Given the description of an element on the screen output the (x, y) to click on. 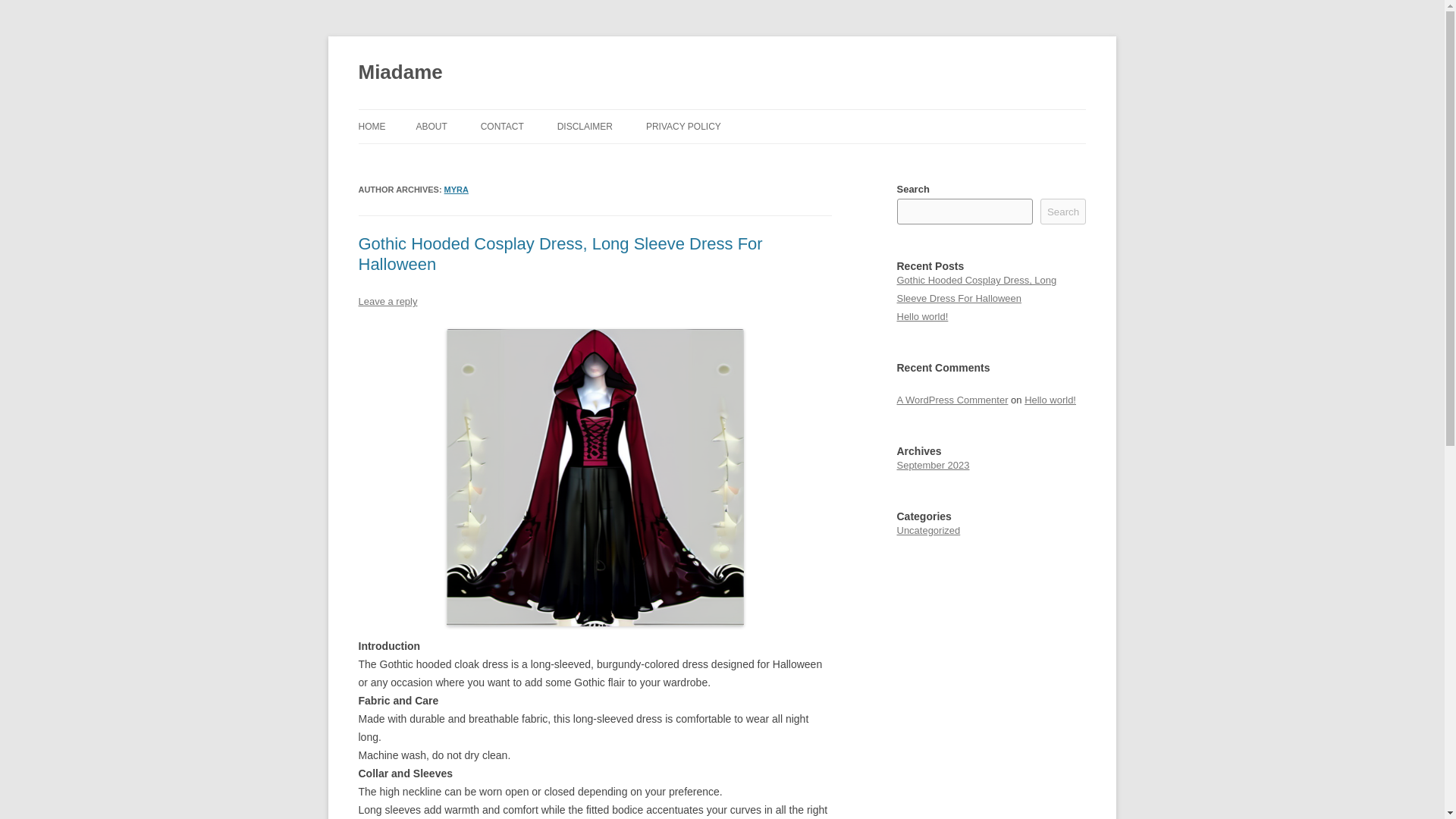
A WordPress Commenter (951, 399)
September 2023 (932, 464)
Miadame (400, 72)
Hello world! (921, 316)
ABOUT (430, 126)
Hello world! (1050, 399)
DISCLAIMER (584, 126)
Uncategorized (927, 530)
Search (1063, 211)
